Given the description of an element on the screen output the (x, y) to click on. 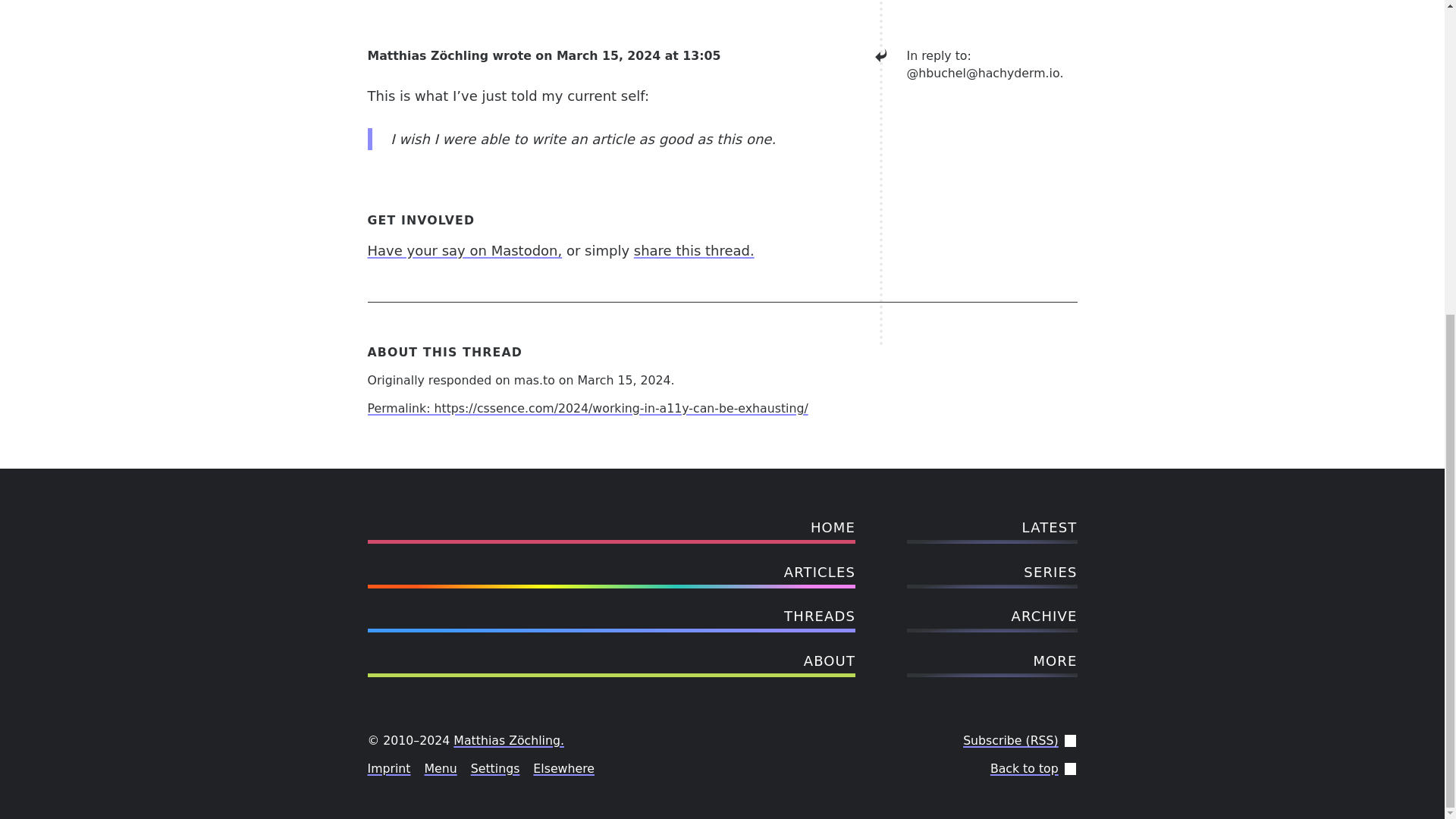
ARCHIVE (992, 615)
SERIES (992, 571)
Imprint (388, 769)
Elsewhere (563, 769)
ABOUT (611, 659)
Settings (494, 769)
THREADS (611, 615)
share this thread. (693, 250)
ARTICLES (611, 571)
Menu (441, 769)
Back to top (1024, 769)
Have your say on Mastodon, (464, 250)
HOME (611, 526)
LATEST (992, 526)
